Given the description of an element on the screen output the (x, y) to click on. 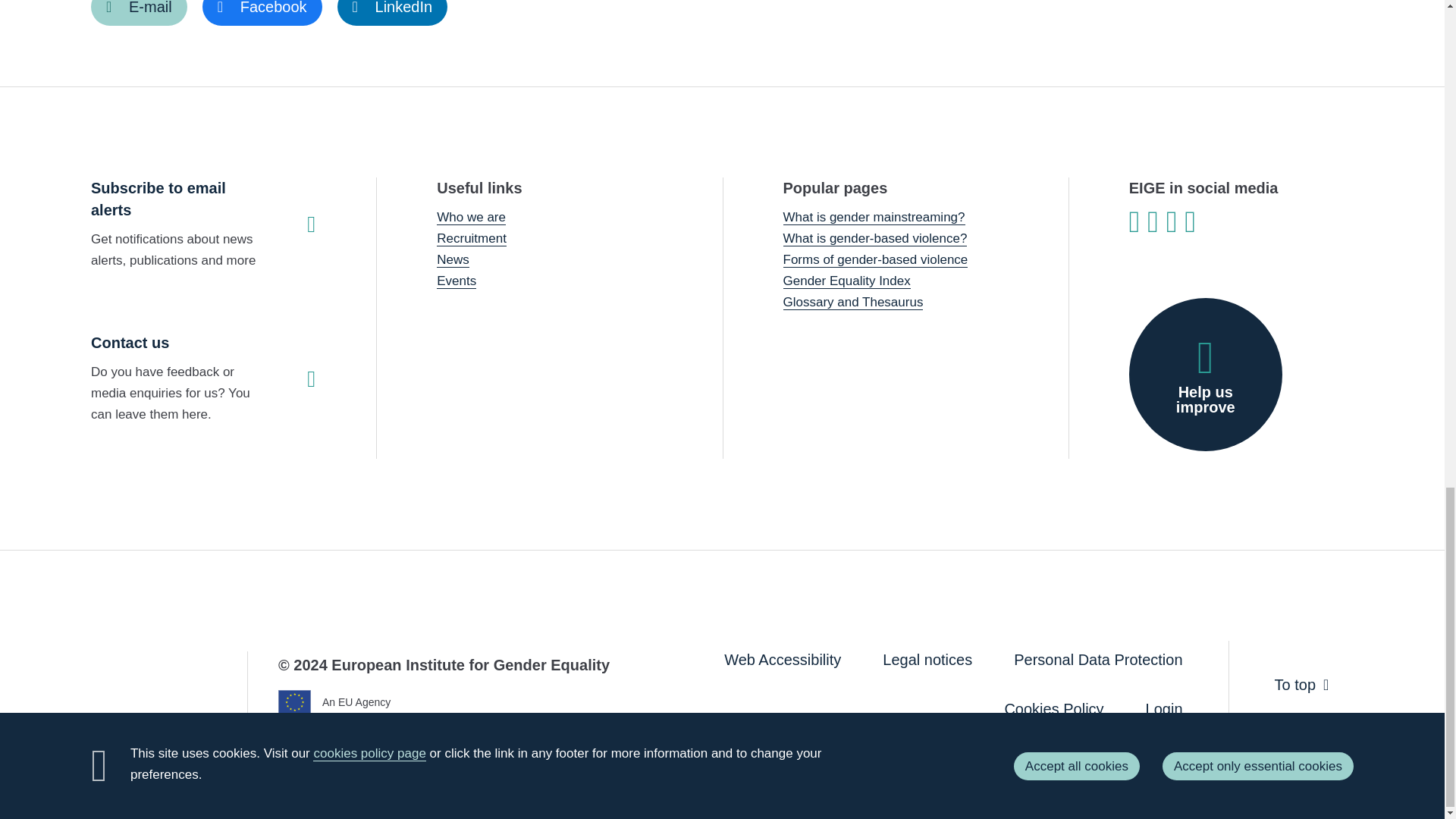
E-mail (138, 12)
Facebook (261, 12)
LinkedIn (392, 12)
